Given the description of an element on the screen output the (x, y) to click on. 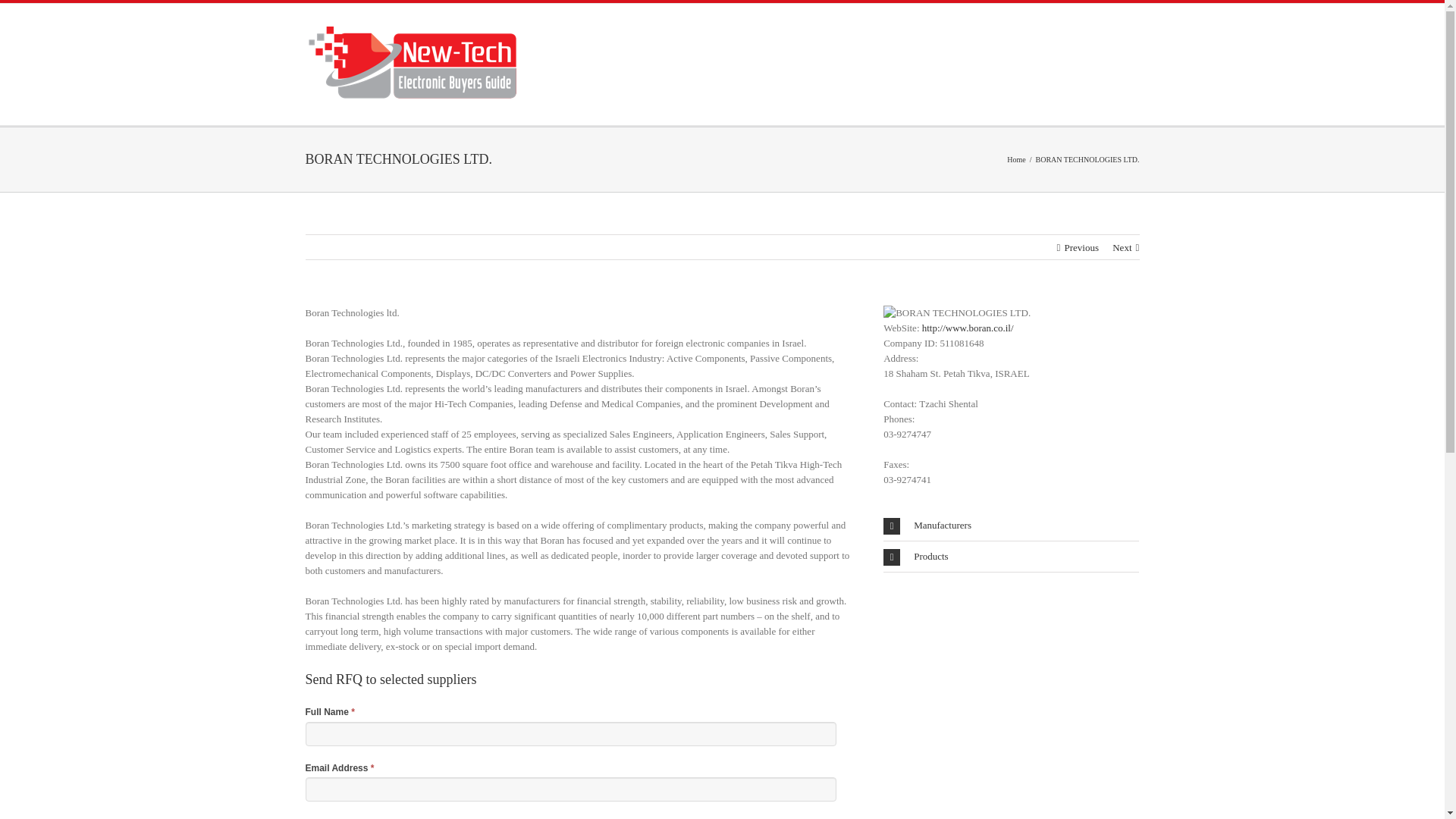
Home (1016, 159)
Manufacturers (1010, 525)
Products (1010, 556)
Previous (1081, 248)
